Given the description of an element on the screen output the (x, y) to click on. 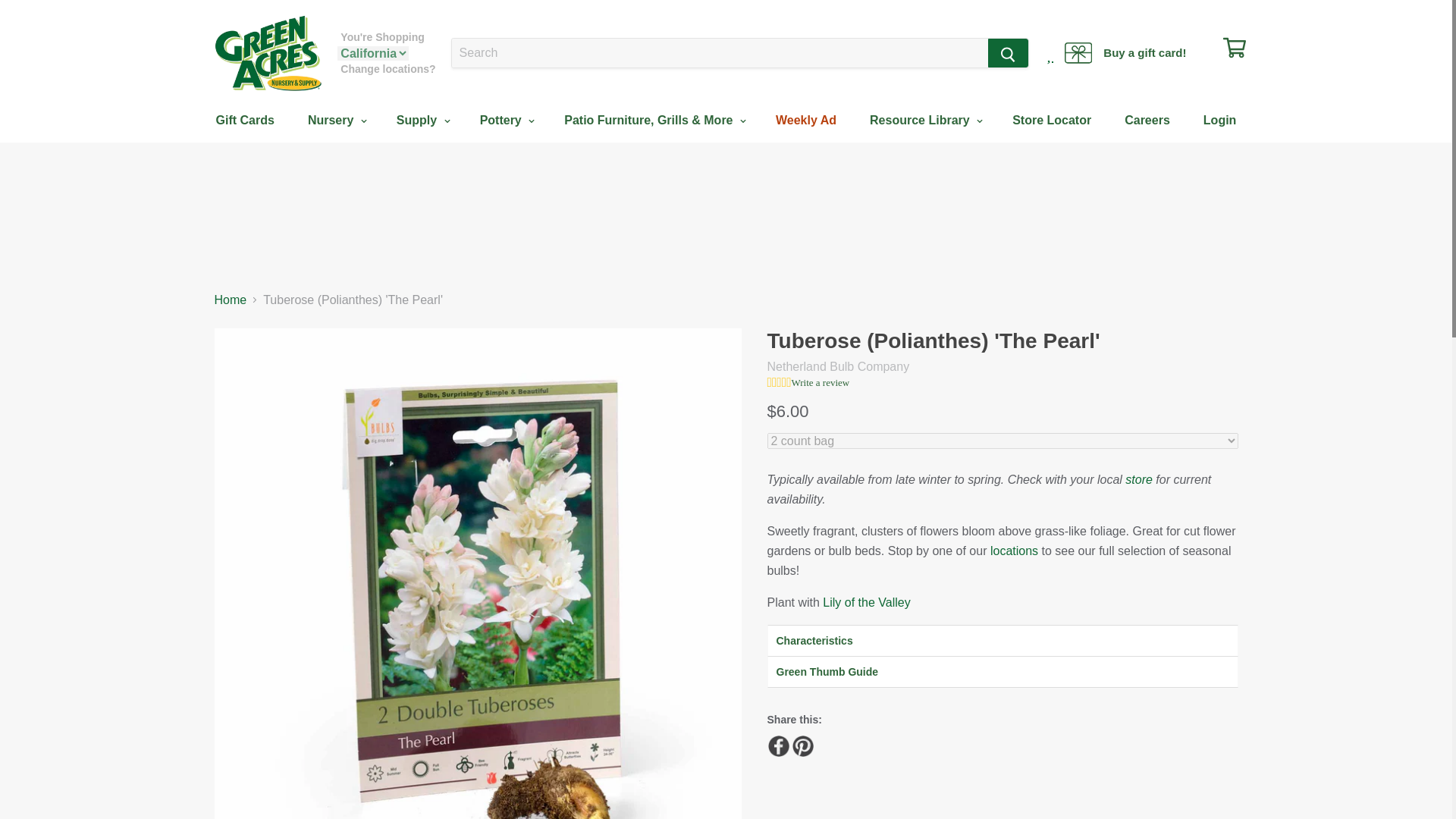
Cart (1229, 47)
Nursery (335, 120)
Buy a gift card! (1125, 52)
View cart (1229, 47)
Gift Cards (244, 120)
Nursery (335, 120)
Buy a gift card! (1125, 52)
Gift Cards (244, 120)
